Given the description of an element on the screen output the (x, y) to click on. 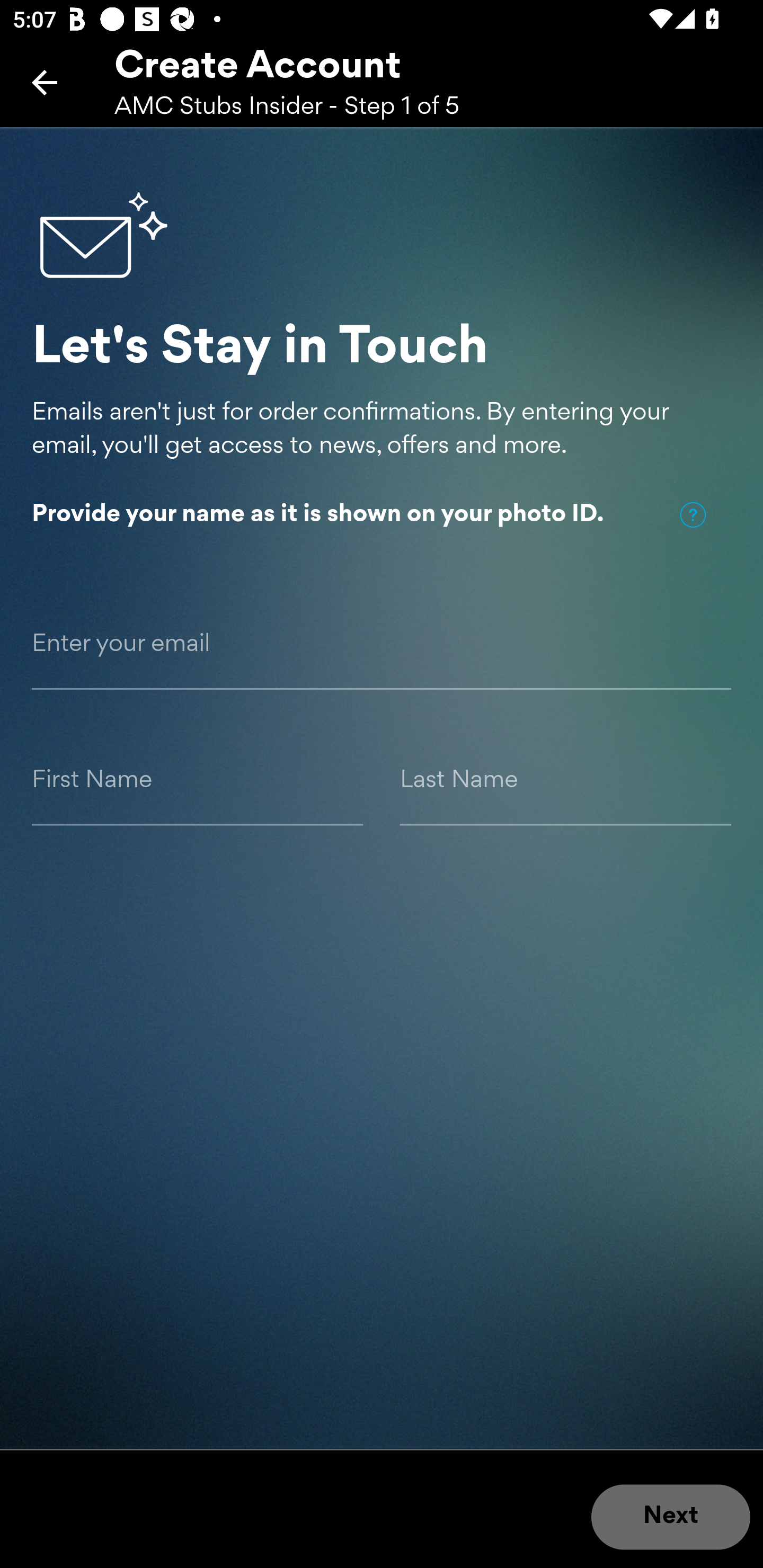
Back (44, 82)
Help (692, 514)
